Given the description of an element on the screen output the (x, y) to click on. 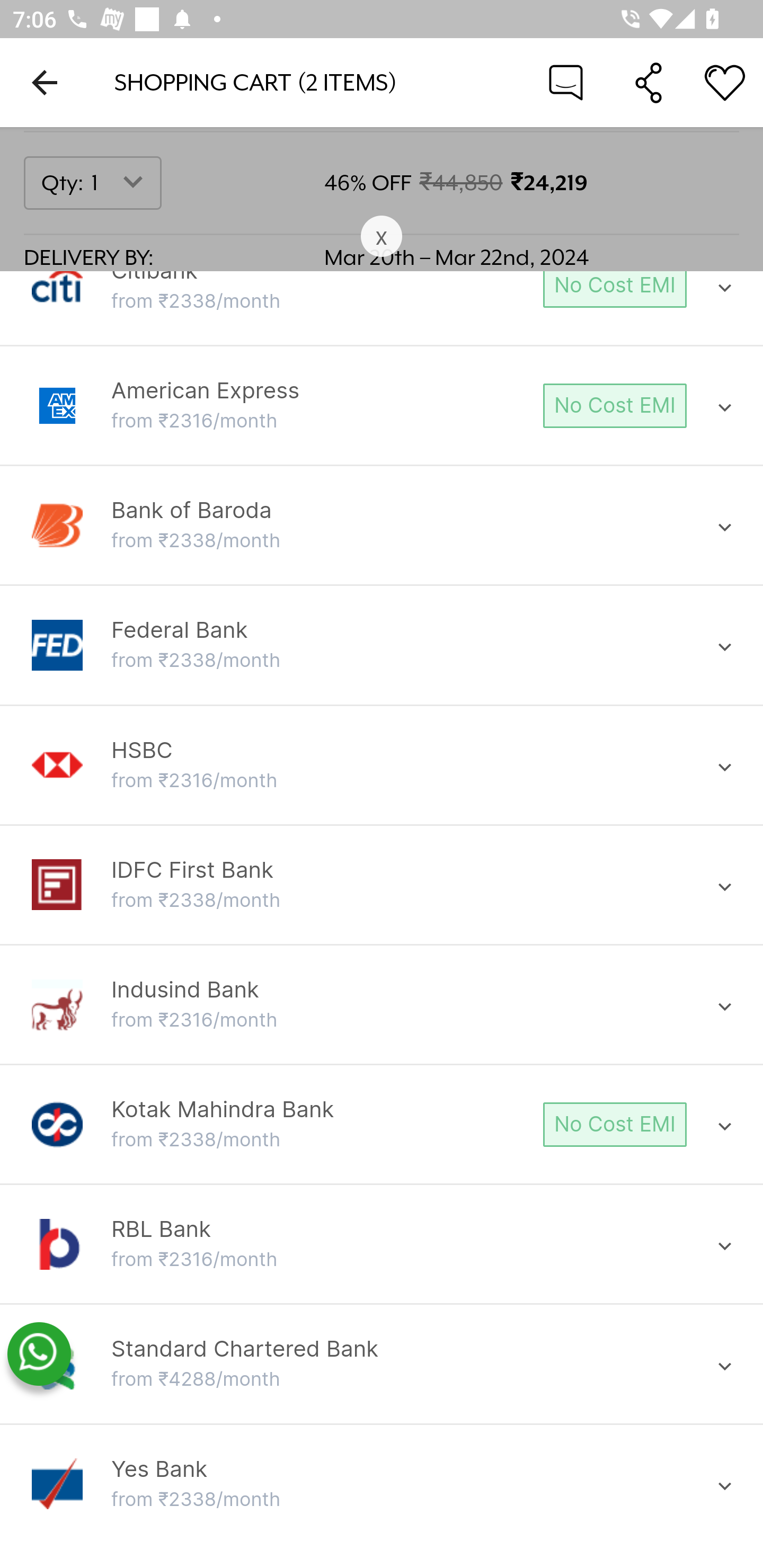
Navigate up (44, 82)
Chat (565, 81)
Share Cart (648, 81)
Wishlist (724, 81)
x (381, 237)
Citibank Citibank from ₹2338/month No Cost EMI (381, 293)
Bank of Baroda Bank of Baroda from ₹2338/month (381, 526)
Federal Bank Federal Bank from ₹2338/month (381, 645)
HSBC HSBC from ₹2316/month (381, 764)
IDFC First Bank IDFC First Bank from ₹2338/month (381, 885)
Indusind Bank Indusind Bank from ₹2316/month (381, 1004)
RBL Bank RBL Bank from ₹2316/month (381, 1244)
whatsapp (38, 1354)
Yes Bank Yes Bank from ₹2338/month (381, 1484)
